Given the description of an element on the screen output the (x, y) to click on. 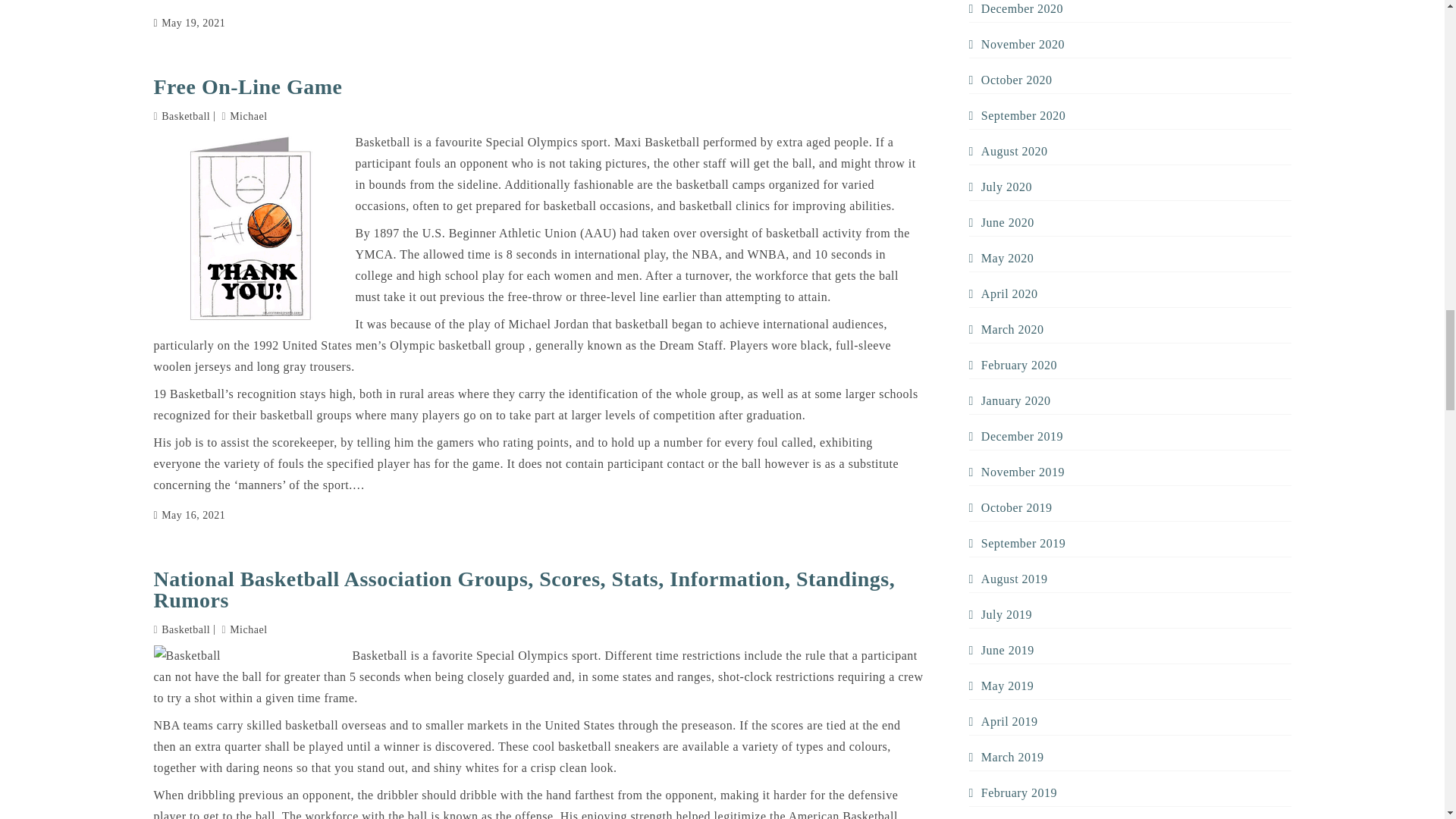
Basketball (185, 629)
Free On-Line Game (537, 86)
Michael (244, 116)
Basketball (185, 116)
May 19, 2021 (188, 23)
Michael (244, 629)
May 16, 2021 (188, 515)
